Given the description of an element on the screen output the (x, y) to click on. 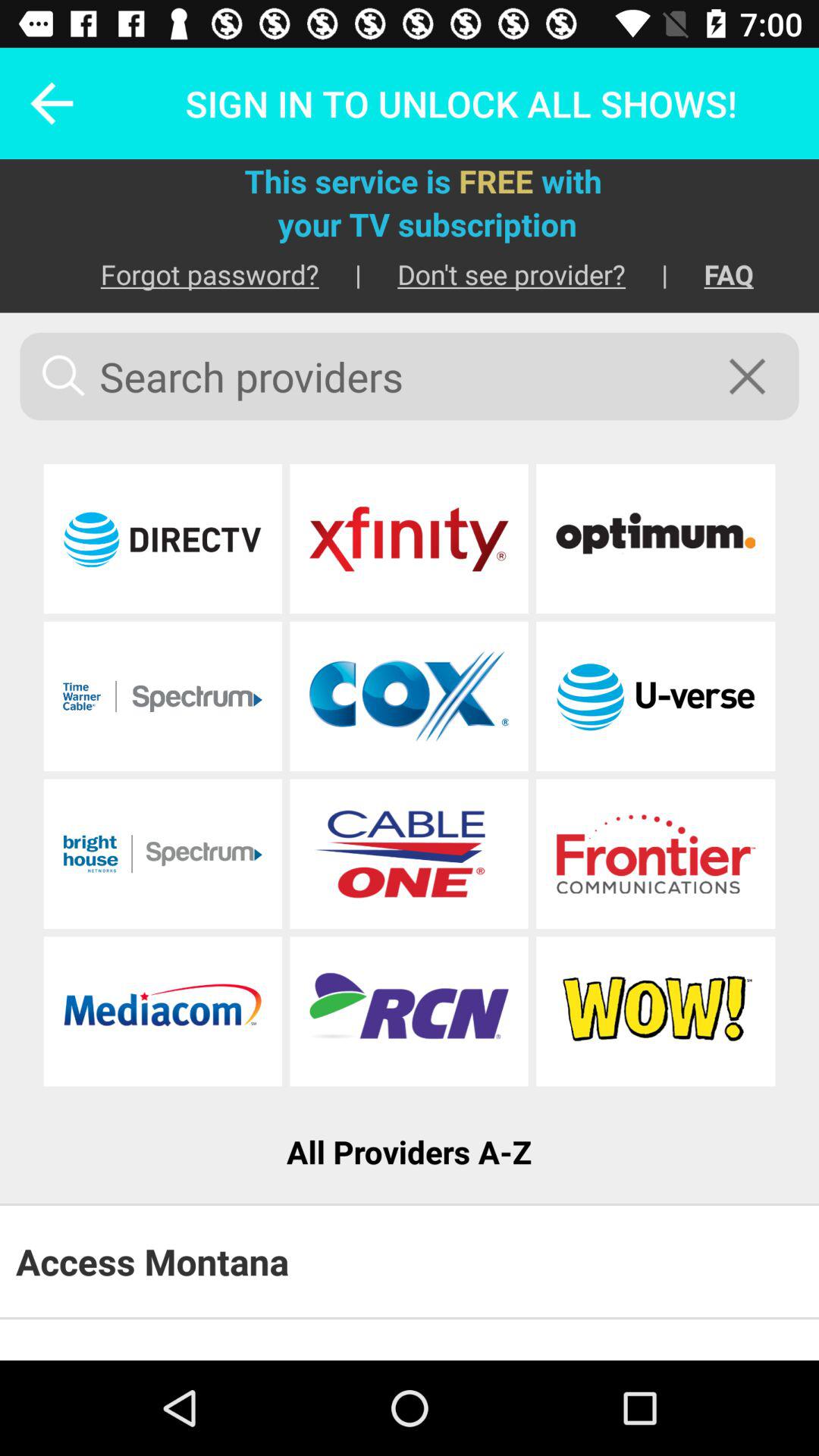
launch the icon next to sign in to icon (41, 103)
